Given the description of an element on the screen output the (x, y) to click on. 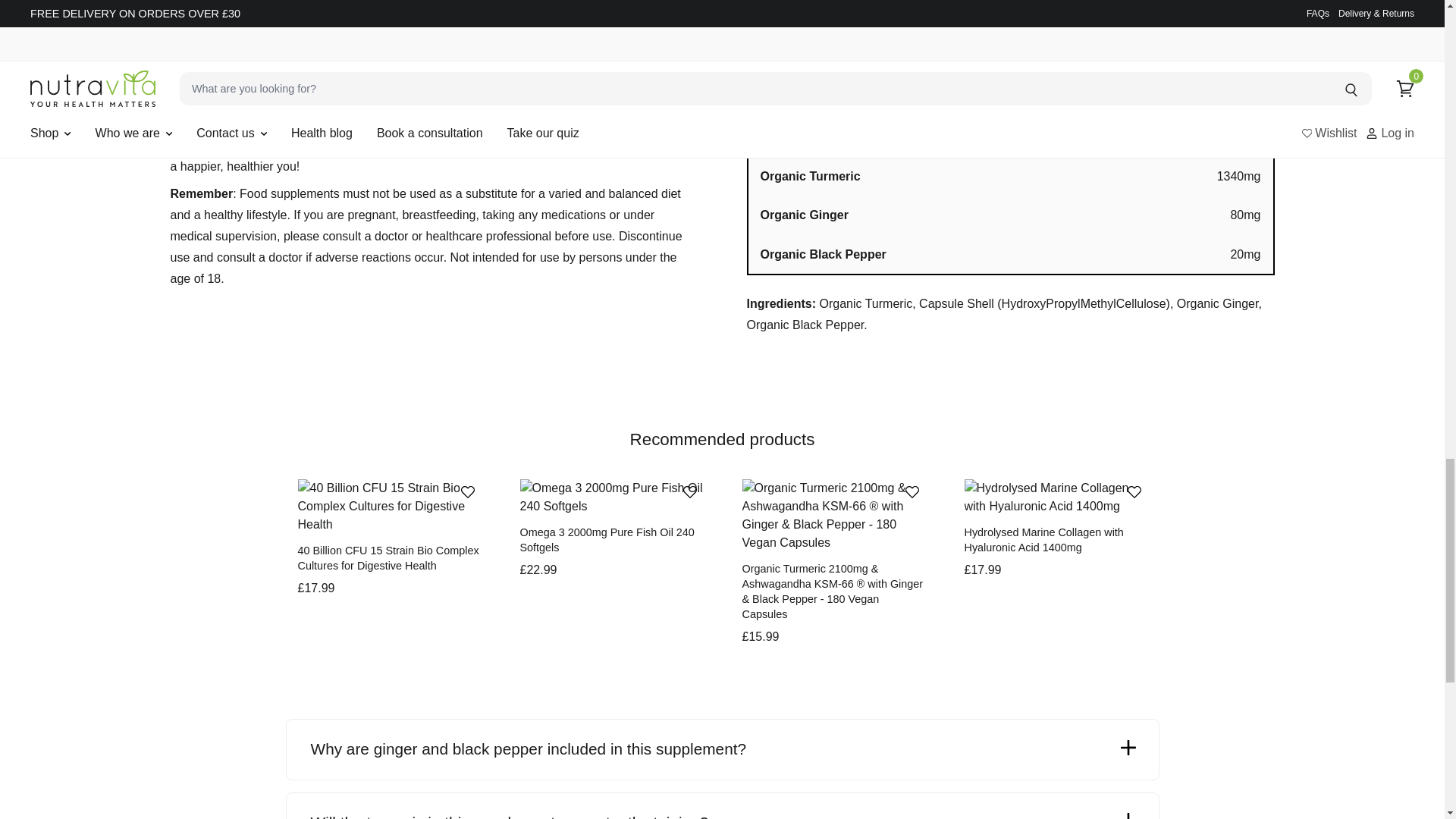
Omega 3 2000mg Pure Fish Oil 240 Softgels (611, 497)
Hydrolysed Marine Collagen with Hyaluronic Acid 1400mg (1055, 497)
